Given the description of an element on the screen output the (x, y) to click on. 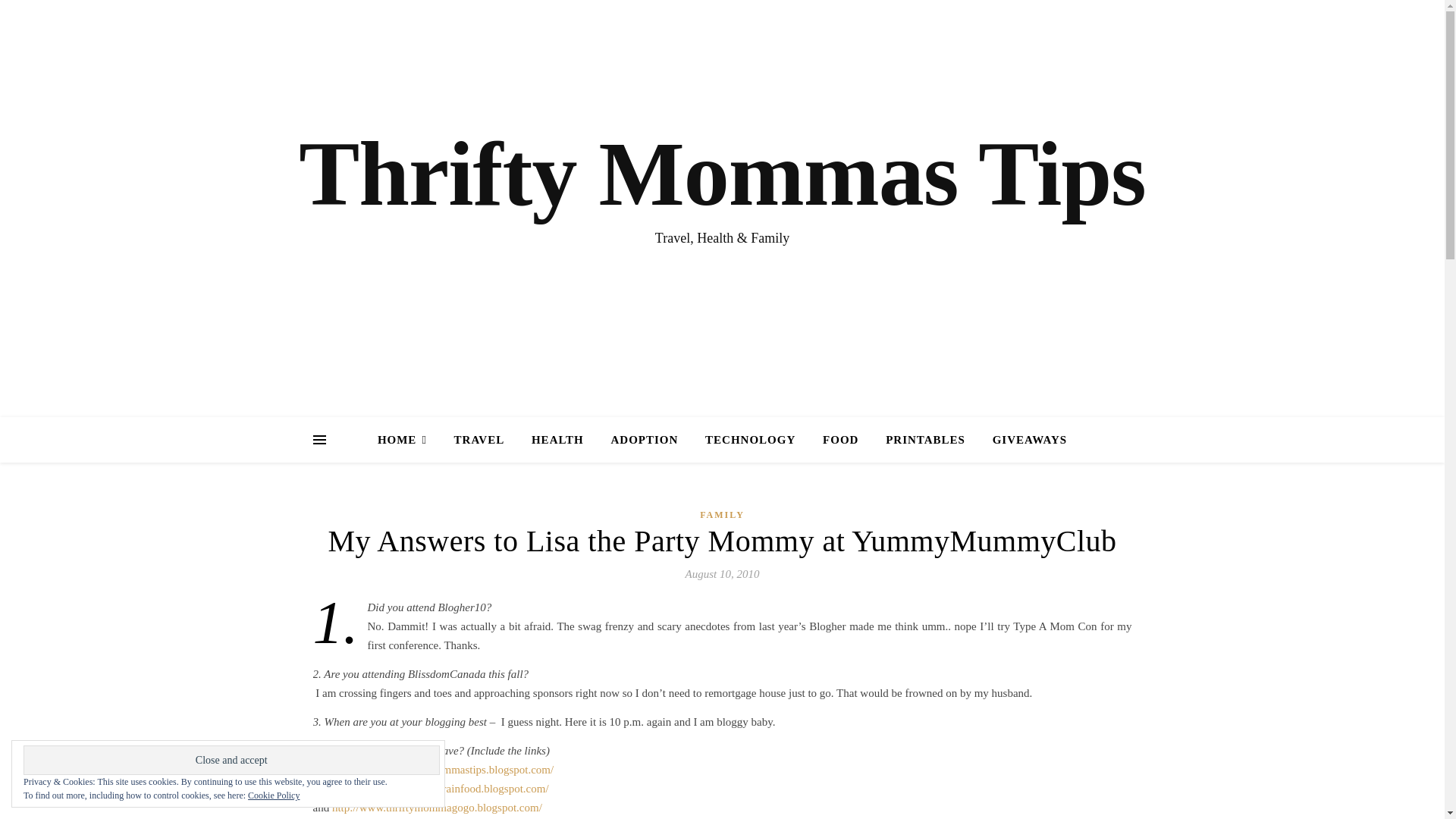
HOME (408, 439)
FAMILY (722, 514)
TECHNOLOGY (750, 439)
PRINTABLES (924, 439)
FOOD (840, 439)
GIVEAWAYS (1023, 439)
Thrifty Mommas Tips (721, 174)
ADOPTION (644, 439)
Close and accept (231, 759)
HEALTH (557, 439)
